Given the description of an element on the screen output the (x, y) to click on. 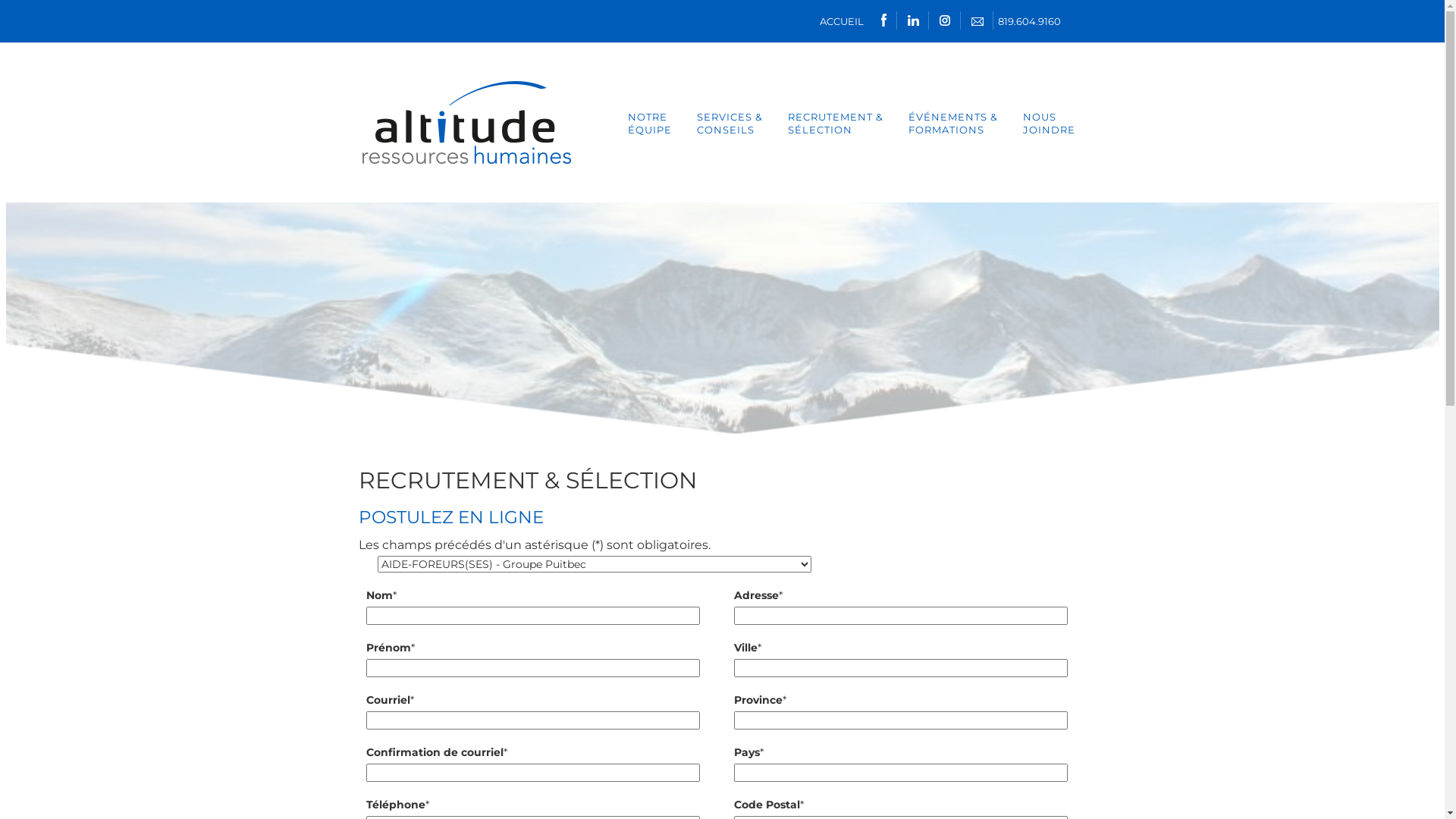
ACCUEIL Element type: text (840, 21)
819.604.9160 Element type: text (1028, 21)
SERVICES &
CONSEILS Element type: text (728, 123)
NOUS
JOINDRE Element type: text (1048, 123)
